Given the description of an element on the screen output the (x, y) to click on. 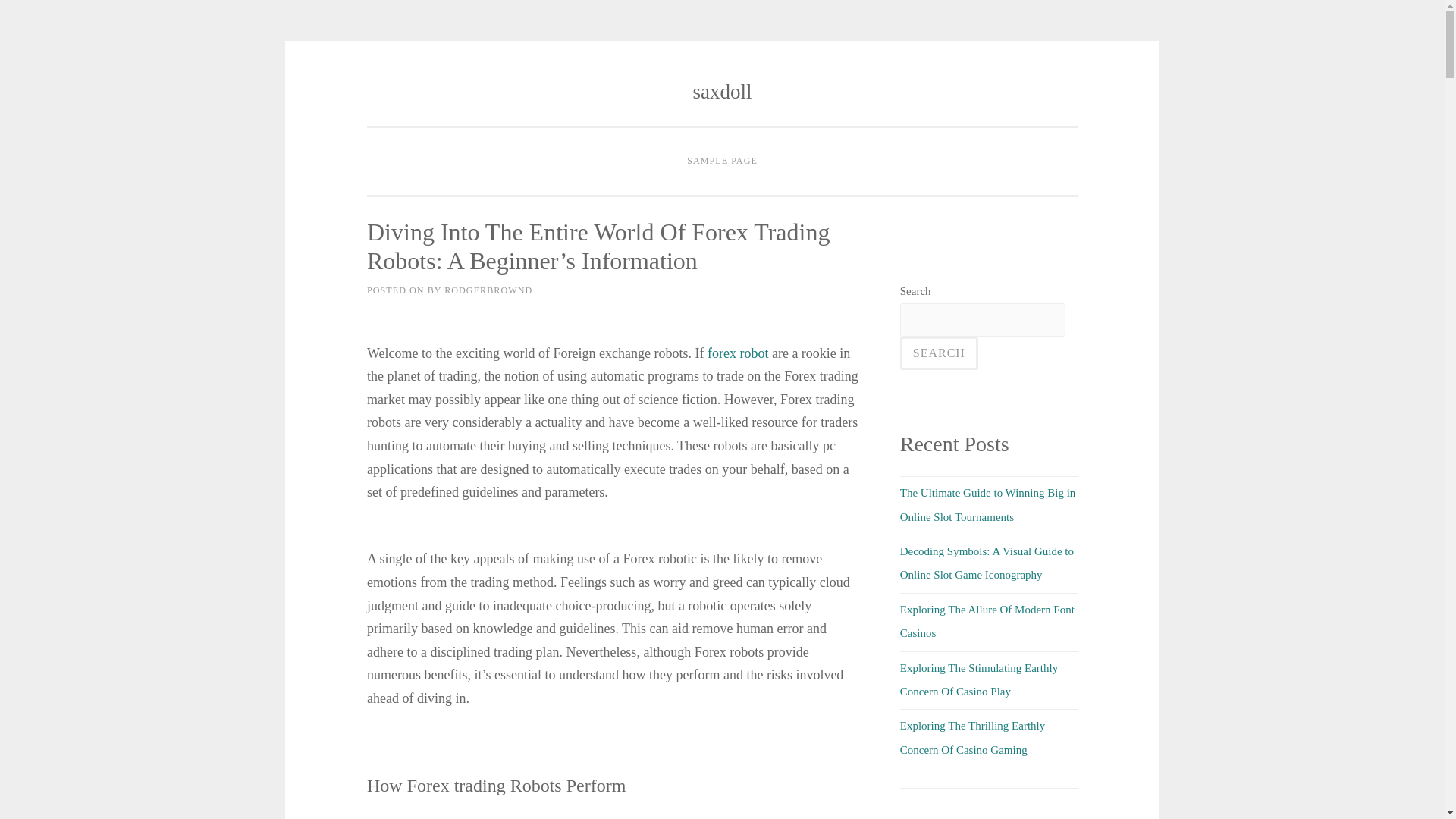
saxdoll (722, 91)
RODGERBROWND (488, 290)
Exploring The Allure Of Modern Font Casinos (986, 621)
saxdoll (722, 91)
forex robot (737, 353)
The Ultimate Guide to Winning Big in Online Slot Tournaments (987, 504)
SAMPLE PAGE (721, 161)
Skip to content (400, 91)
Exploring The Thrilling Earthly Concern Of Casino Gaming (972, 737)
SEARCH (938, 353)
Exploring The Stimulating Earthly Concern Of Casino Play (978, 678)
